Given the description of an element on the screen output the (x, y) to click on. 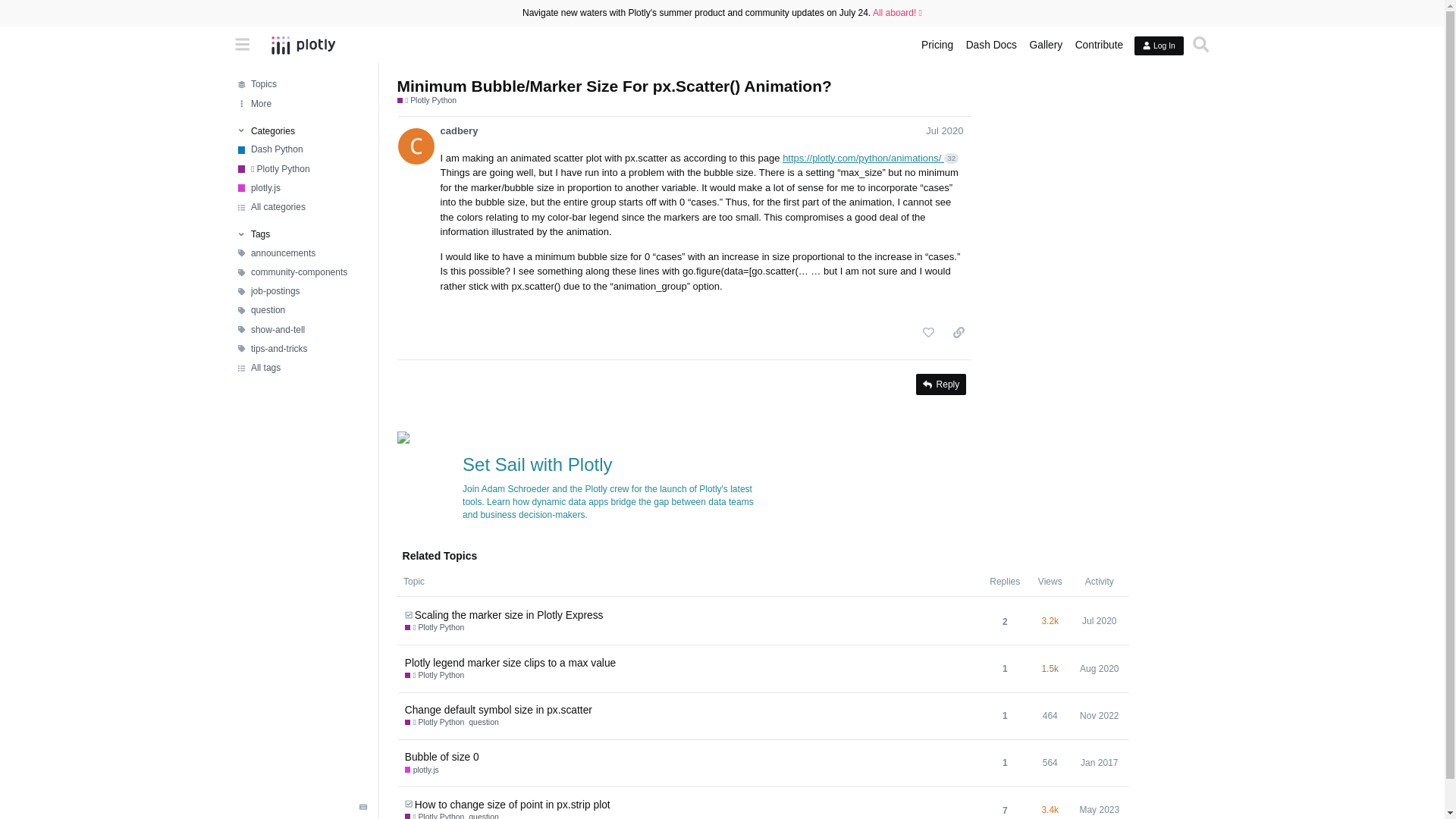
Toggle section (300, 131)
7 Ways to Contribute (1098, 45)
Sidebar (243, 44)
All topics (301, 84)
Topics (301, 84)
Log In (1158, 45)
Scaling the marker size in Plotly Express (509, 615)
job-postings (301, 291)
plotly.js (301, 188)
Search (1201, 44)
Dash Python (301, 149)
cadbery (458, 131)
announcements (301, 253)
community-components (301, 271)
